Given the description of an element on the screen output the (x, y) to click on. 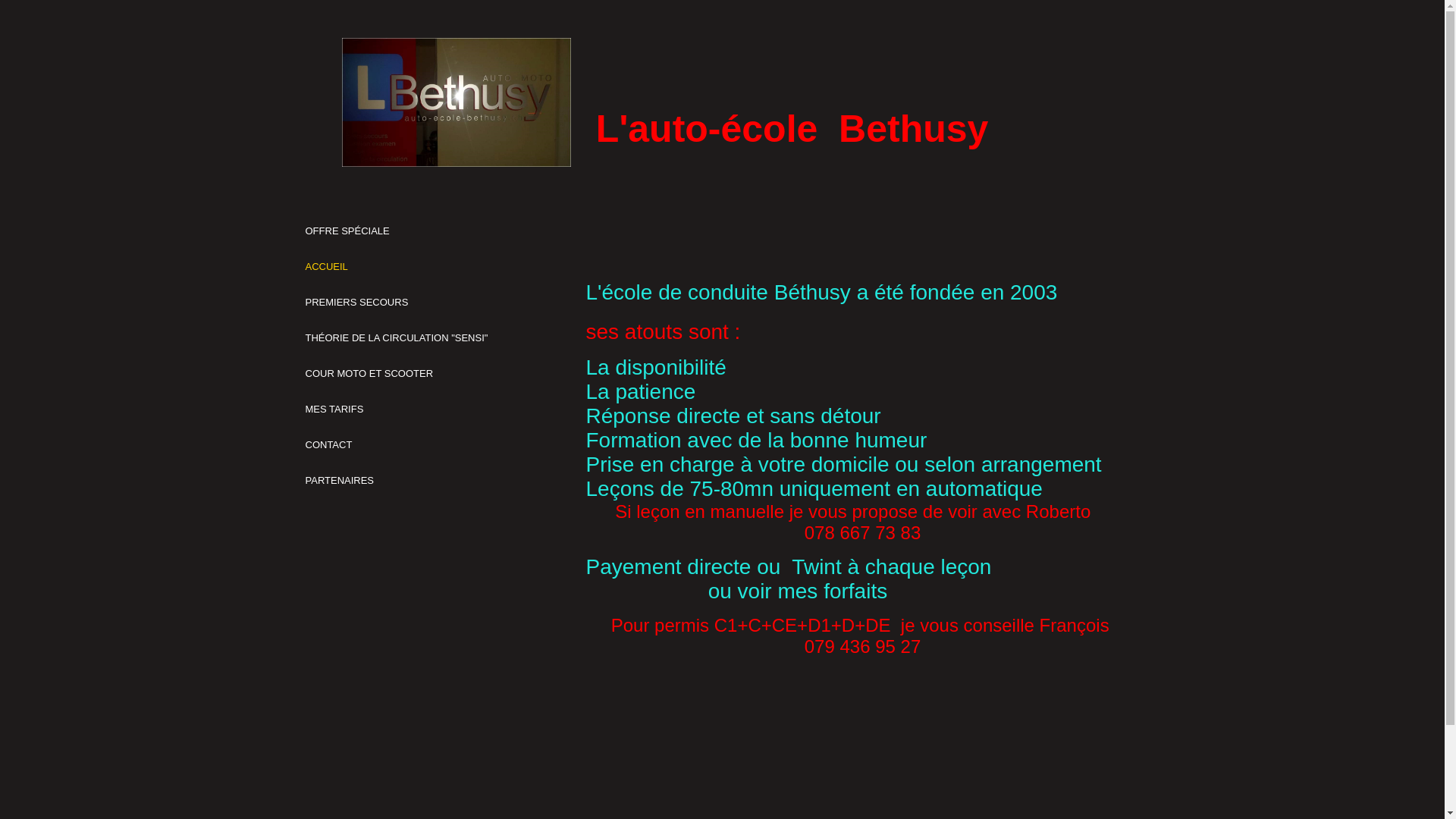
COUR MOTO ET SCOOTER Element type: text (368, 373)
CONTACT Element type: text (327, 444)
ACCUEIL Element type: text (325, 266)
PREMIERS SECOURS Element type: text (355, 301)
MES TARIFS Element type: text (333, 408)
PARTENAIRES Element type: text (338, 480)
